Given the description of an element on the screen output the (x, y) to click on. 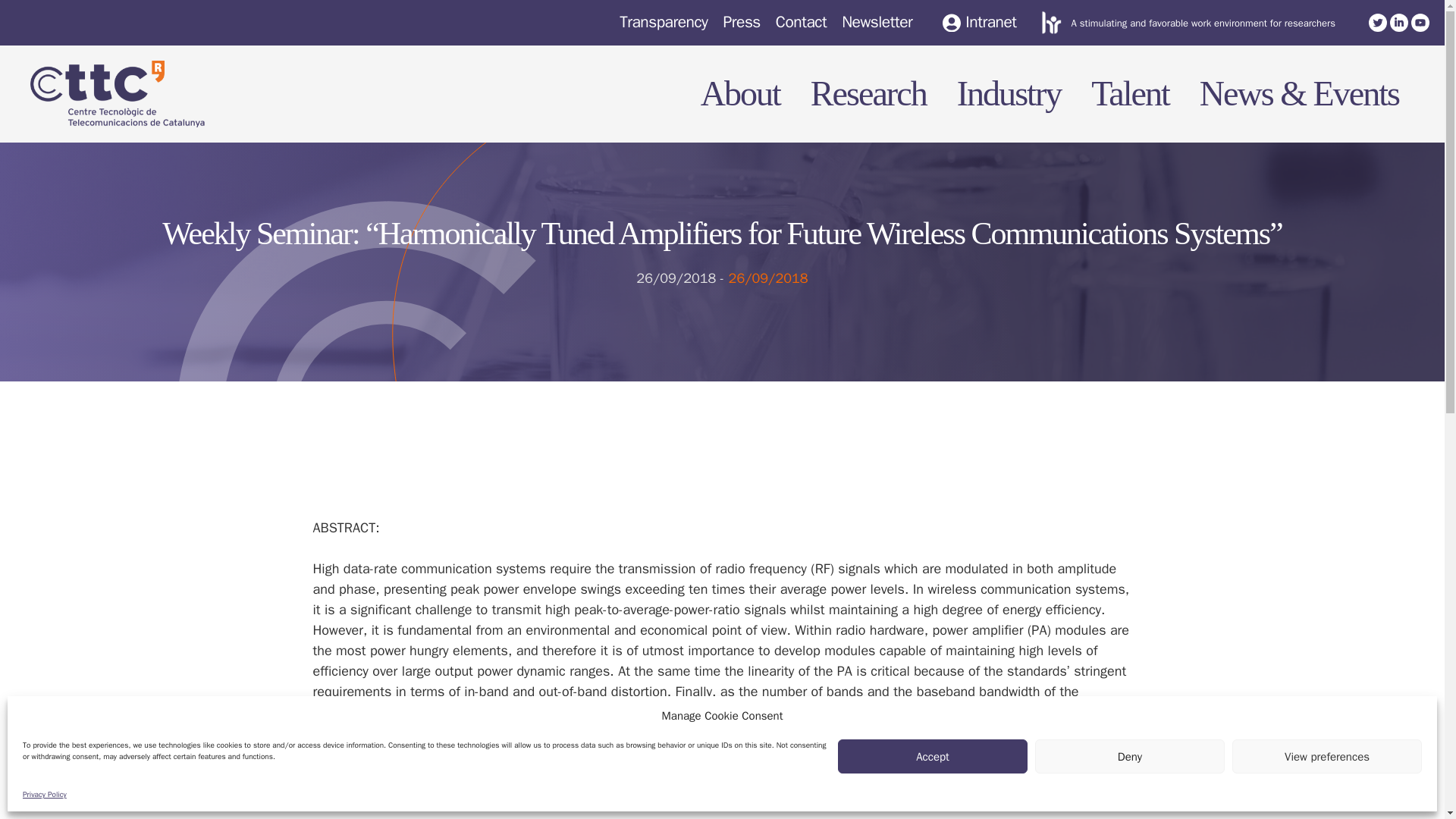
LinkedIn (1398, 22)
YouTube (1419, 22)
Transparency (663, 21)
Privacy Policy (44, 794)
About (732, 92)
Intranet (979, 22)
Research (860, 93)
Twitter (1377, 22)
Accept (932, 756)
Newsletter (876, 21)
Contact (801, 21)
Deny (1129, 756)
A stimulating and favorable work environment for researchers (1203, 22)
Press (741, 21)
View preferences (1326, 756)
